Given the description of an element on the screen output the (x, y) to click on. 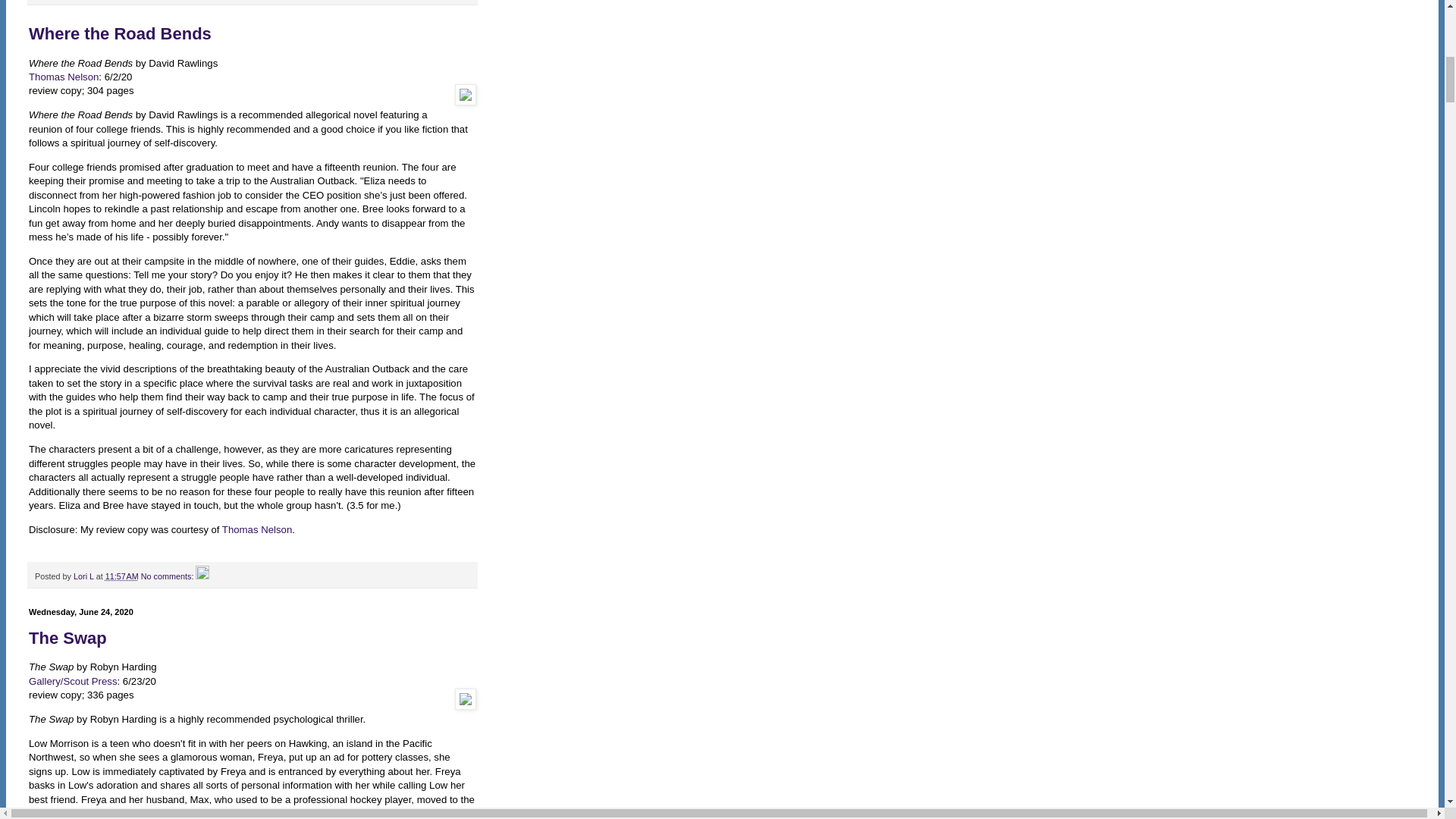
Thomas Nelson (64, 76)
permanent link (121, 575)
The Swap (67, 637)
Thomas Nelson (255, 529)
No comments: (168, 575)
Edit Post (202, 575)
Lori L (85, 575)
Where the Road Bends (120, 33)
author profile (85, 575)
